Given the description of an element on the screen output the (x, y) to click on. 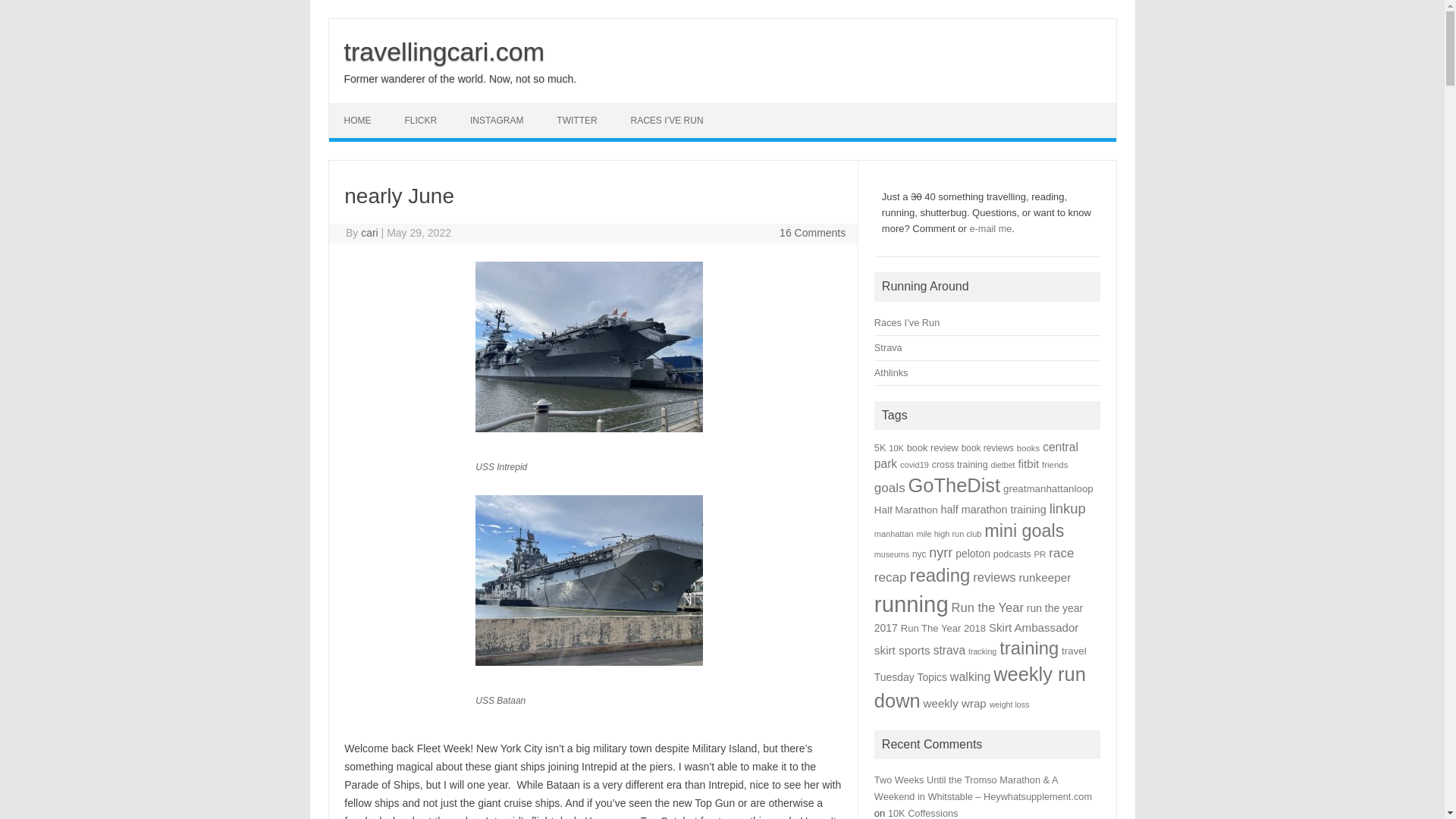
travellingcari.com (443, 51)
Posts by cari (369, 232)
travellingcari.com (443, 51)
FLICKR (419, 120)
cari (369, 232)
HOME (358, 120)
TWITTER (576, 120)
Former wanderer of the world. Now, not so much. (459, 78)
